Given the description of an element on the screen output the (x, y) to click on. 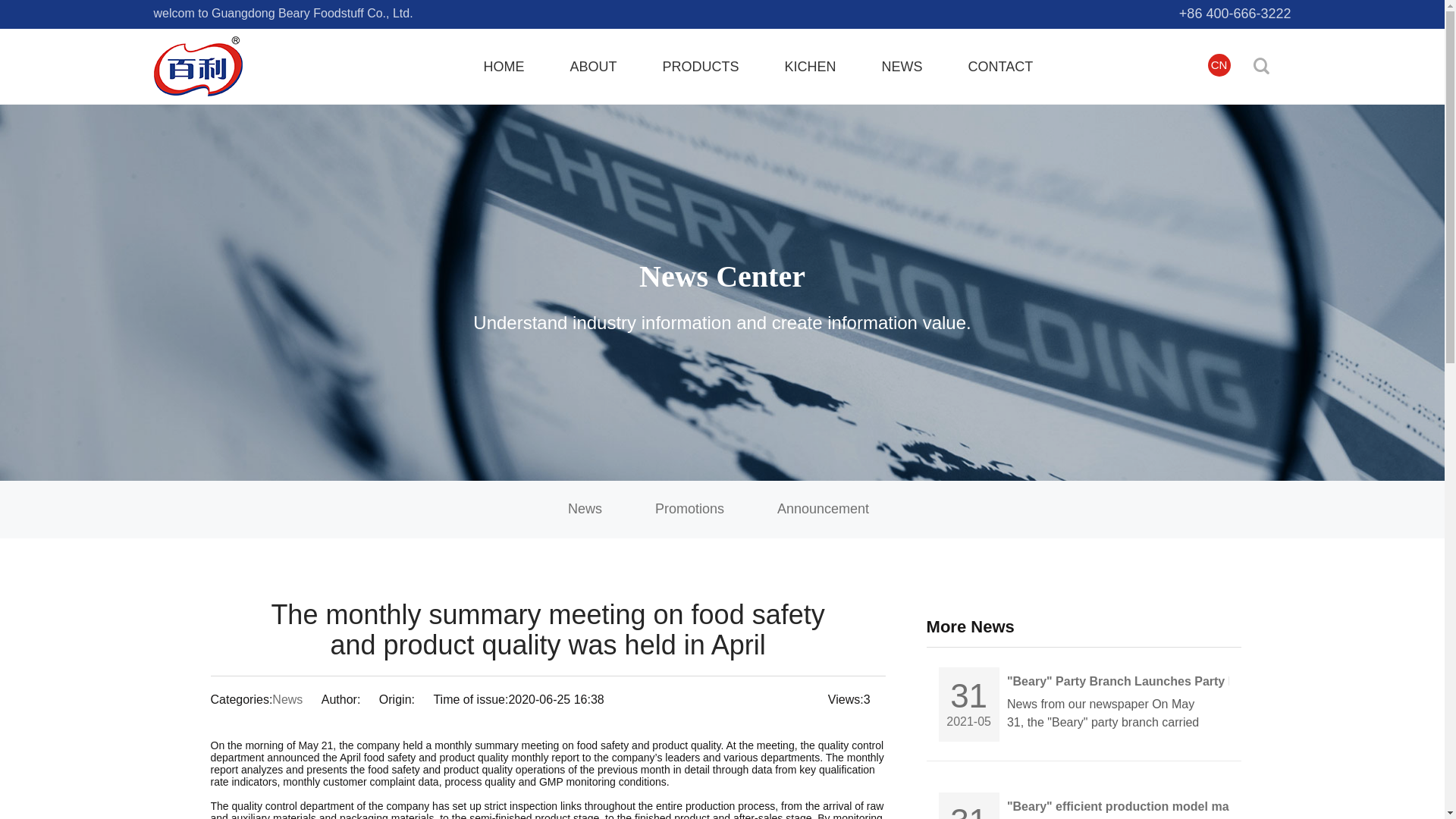
ABOUT (593, 66)
Promotions (689, 509)
NEWS (901, 66)
News (585, 509)
PRODUCTS (700, 66)
KICHEN (810, 66)
CN (1218, 65)
HOME (504, 66)
